Given the description of an element on the screen output the (x, y) to click on. 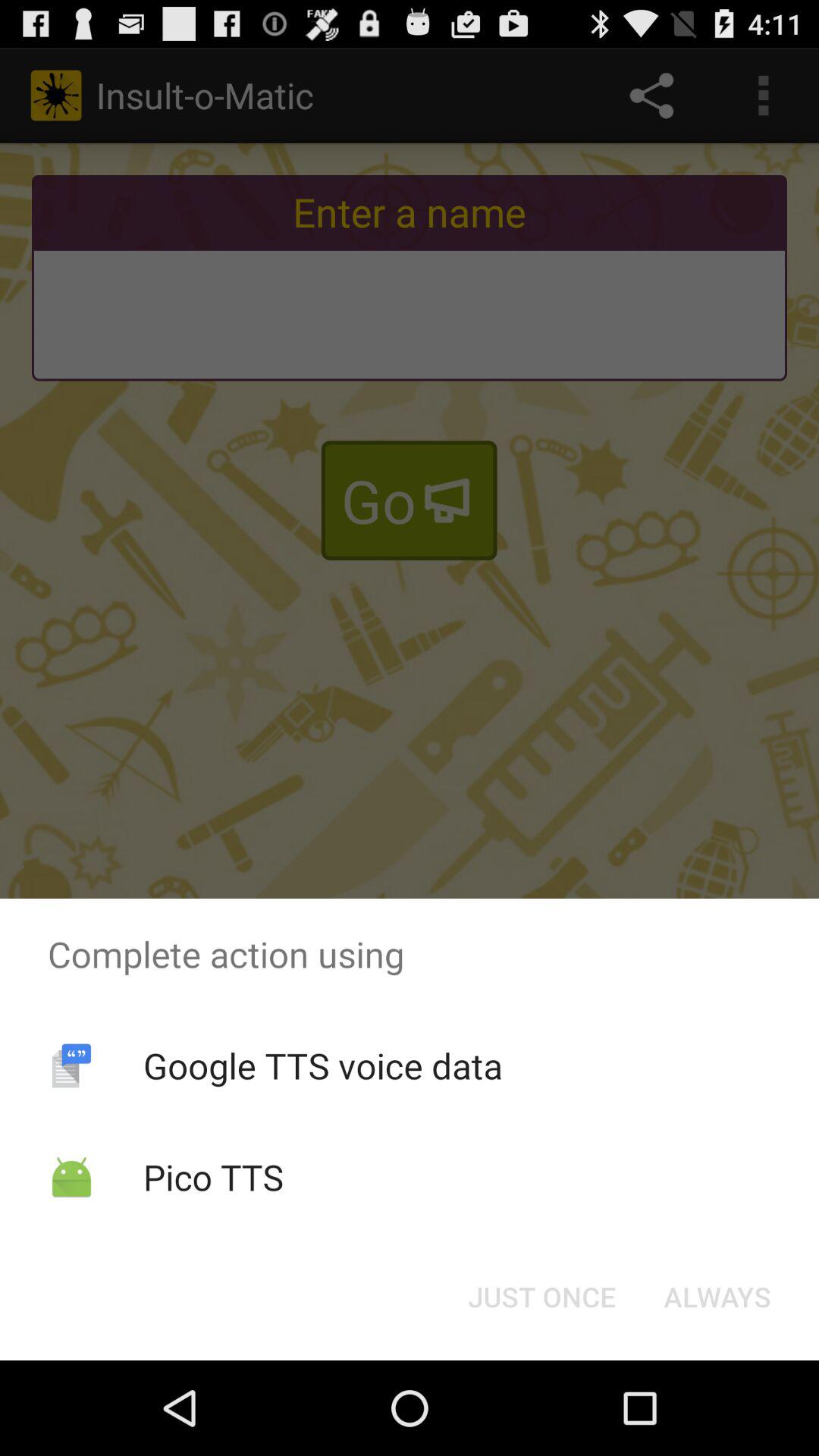
turn off the always button (717, 1296)
